Given the description of an element on the screen output the (x, y) to click on. 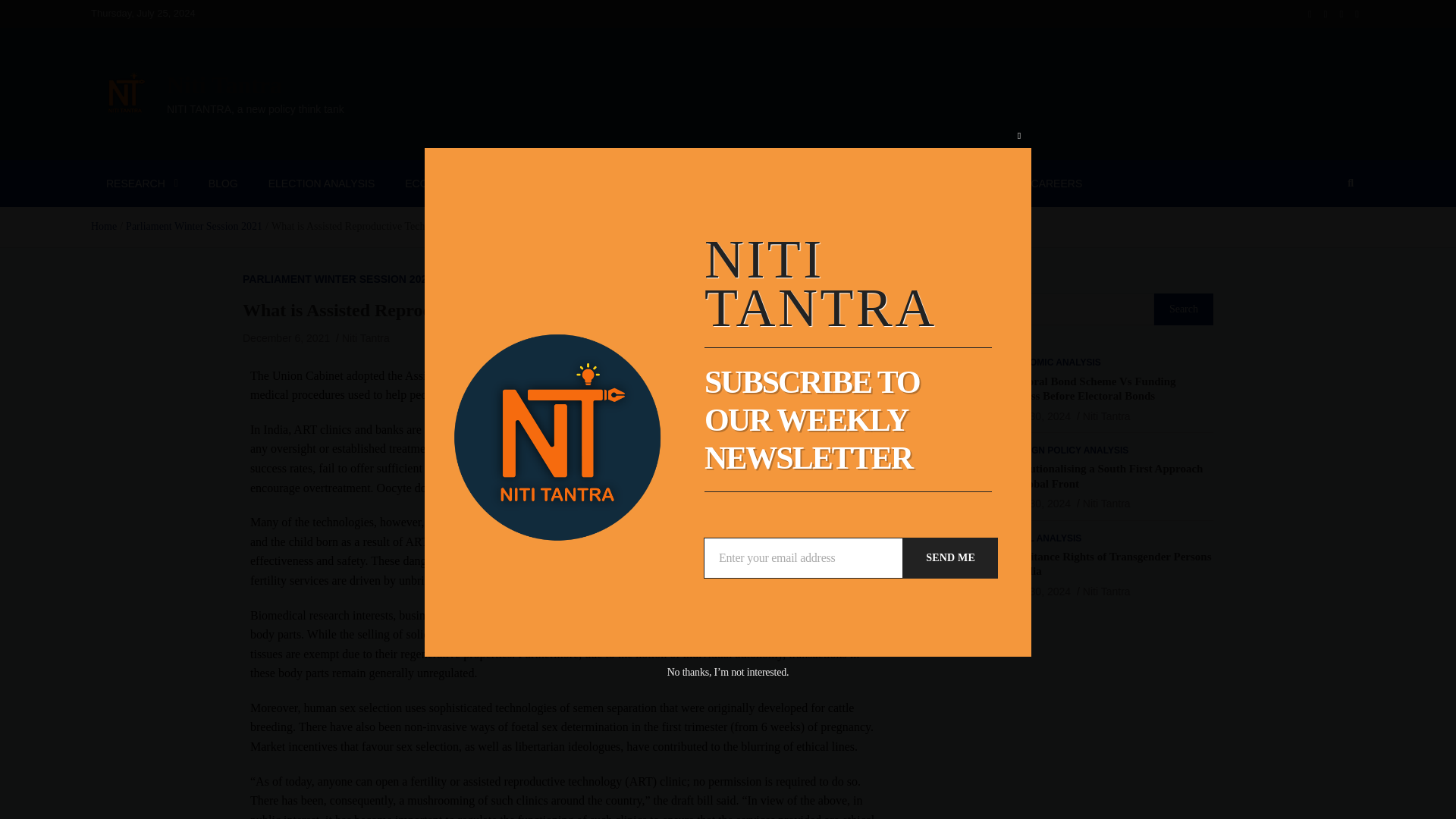
ECONOMIC ANALYSIS (1051, 362)
FOREIGN POLICY ANALYSIS (1065, 450)
Home (103, 225)
PARLIAMENT WINTER SESSION 2021 (337, 279)
June 30, 2024 (1036, 503)
Niti Tantra (1107, 416)
LEGAL ANALYSIS (590, 183)
Institutionalising a South First Approach at Global Front (1102, 475)
RESEARCH (141, 183)
ABOUT US (865, 183)
WRITE FOR US (962, 183)
Search (1183, 309)
Niti Tantra (366, 337)
Parliament Winter Session 2021 (193, 225)
